Given the description of an element on the screen output the (x, y) to click on. 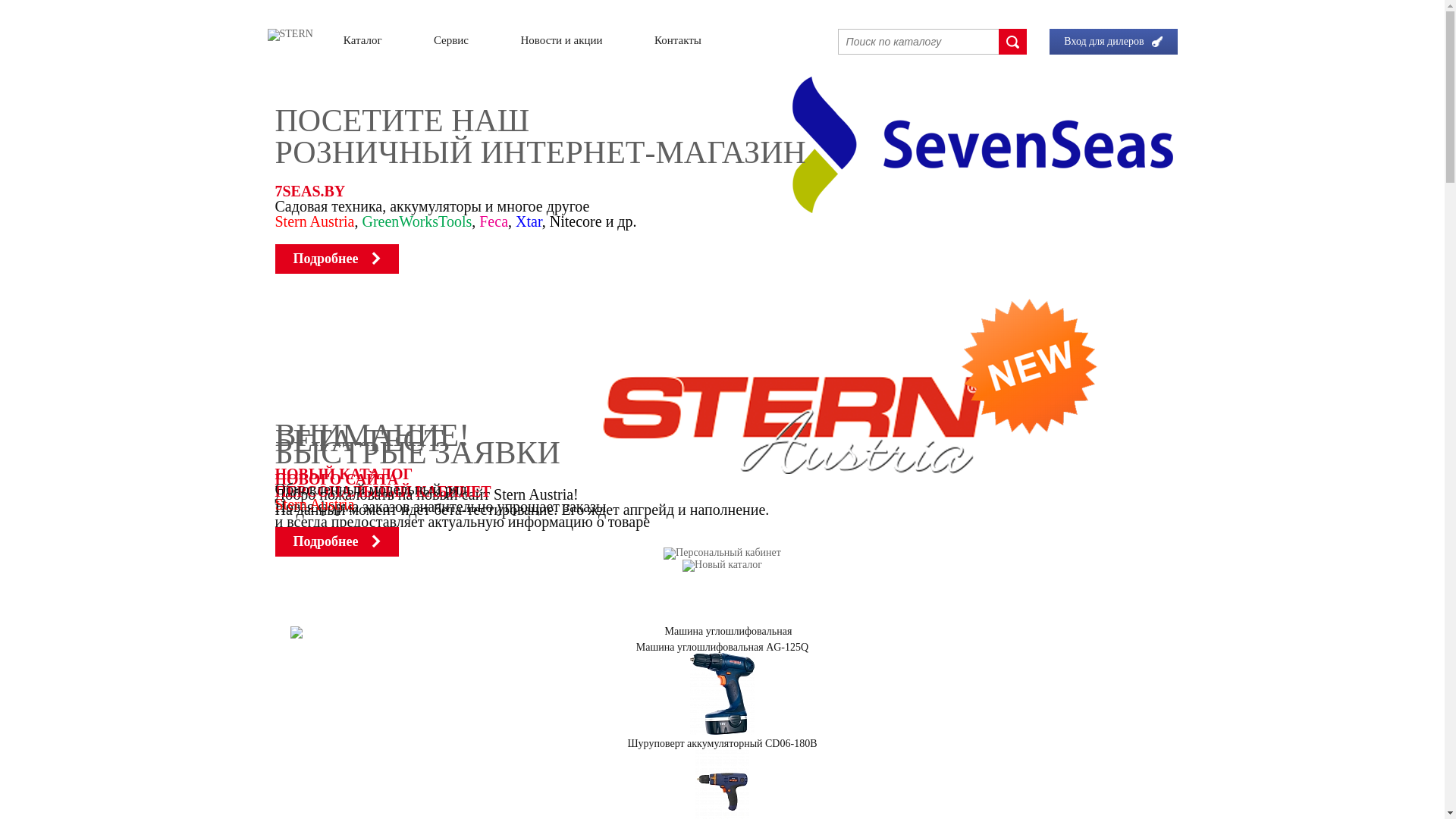
7seas.by Element type: hover (721, 180)
